Given the description of an element on the screen output the (x, y) to click on. 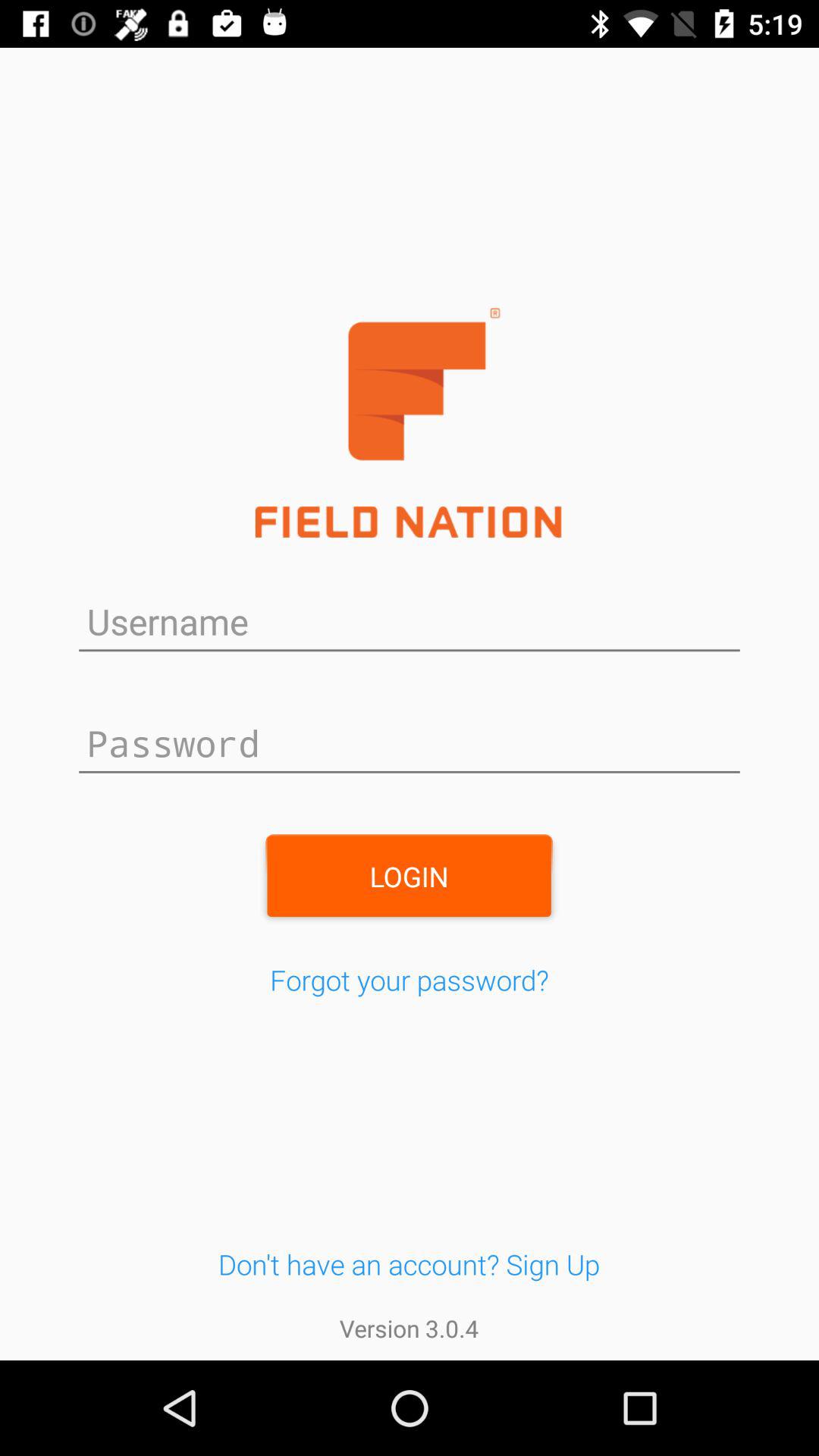
select the item below the login item (409, 979)
